Given the description of an element on the screen output the (x, y) to click on. 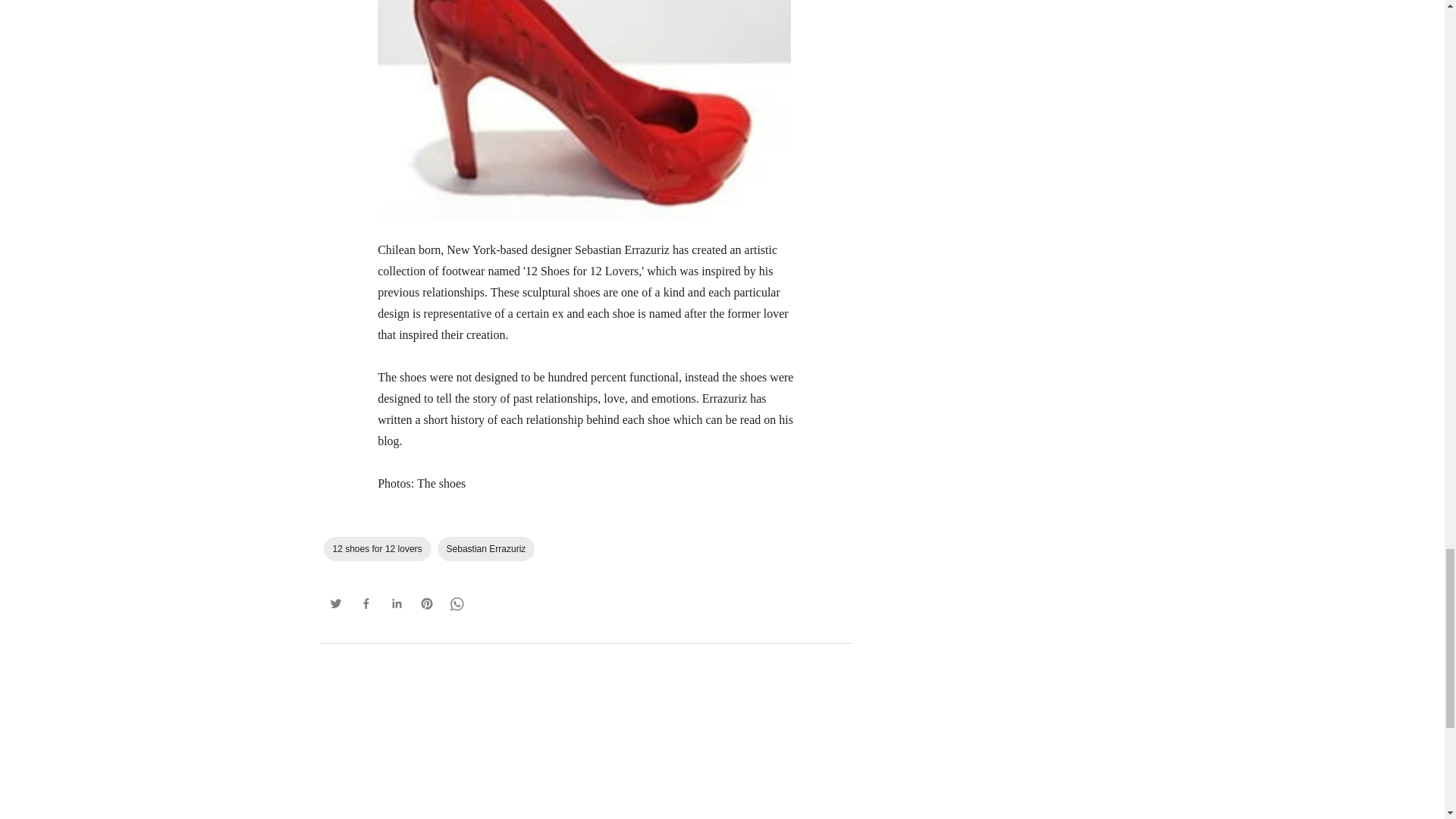
12 shoes for 12 Exes (583, 113)
3rd party ad content (585, 746)
